Given the description of an element on the screen output the (x, y) to click on. 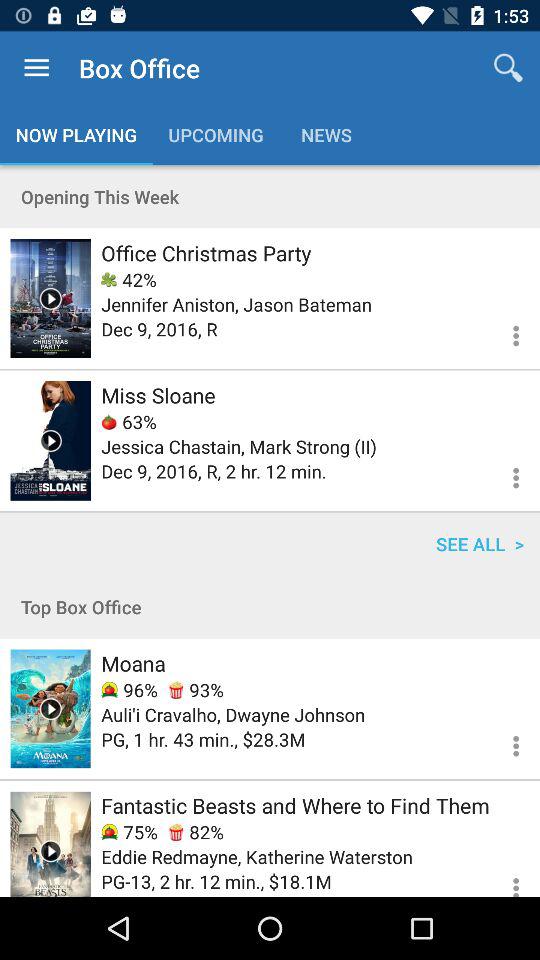
play (50, 844)
